Given the description of an element on the screen output the (x, y) to click on. 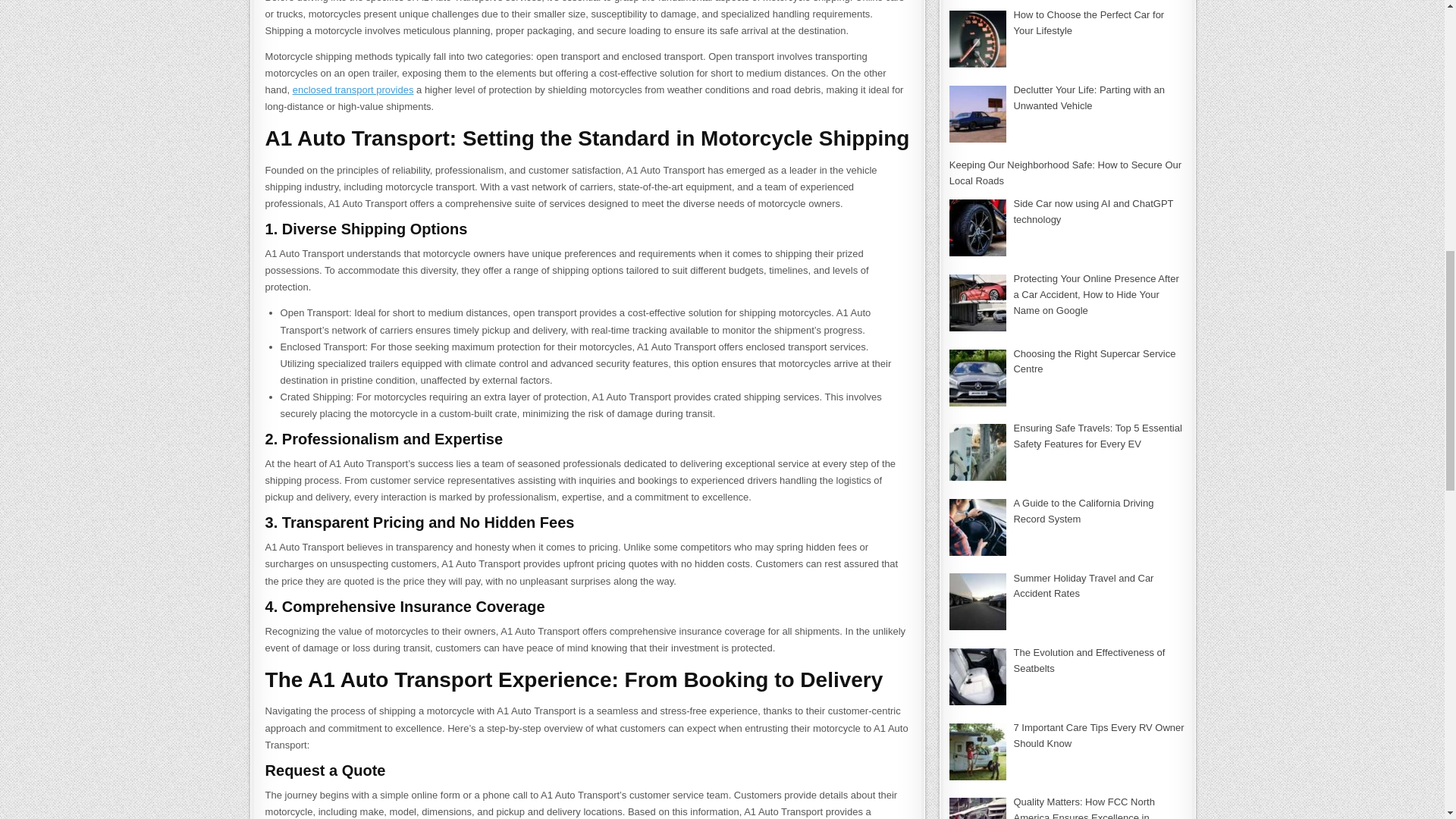
enclosed transport provides (352, 89)
